Given the description of an element on the screen output the (x, y) to click on. 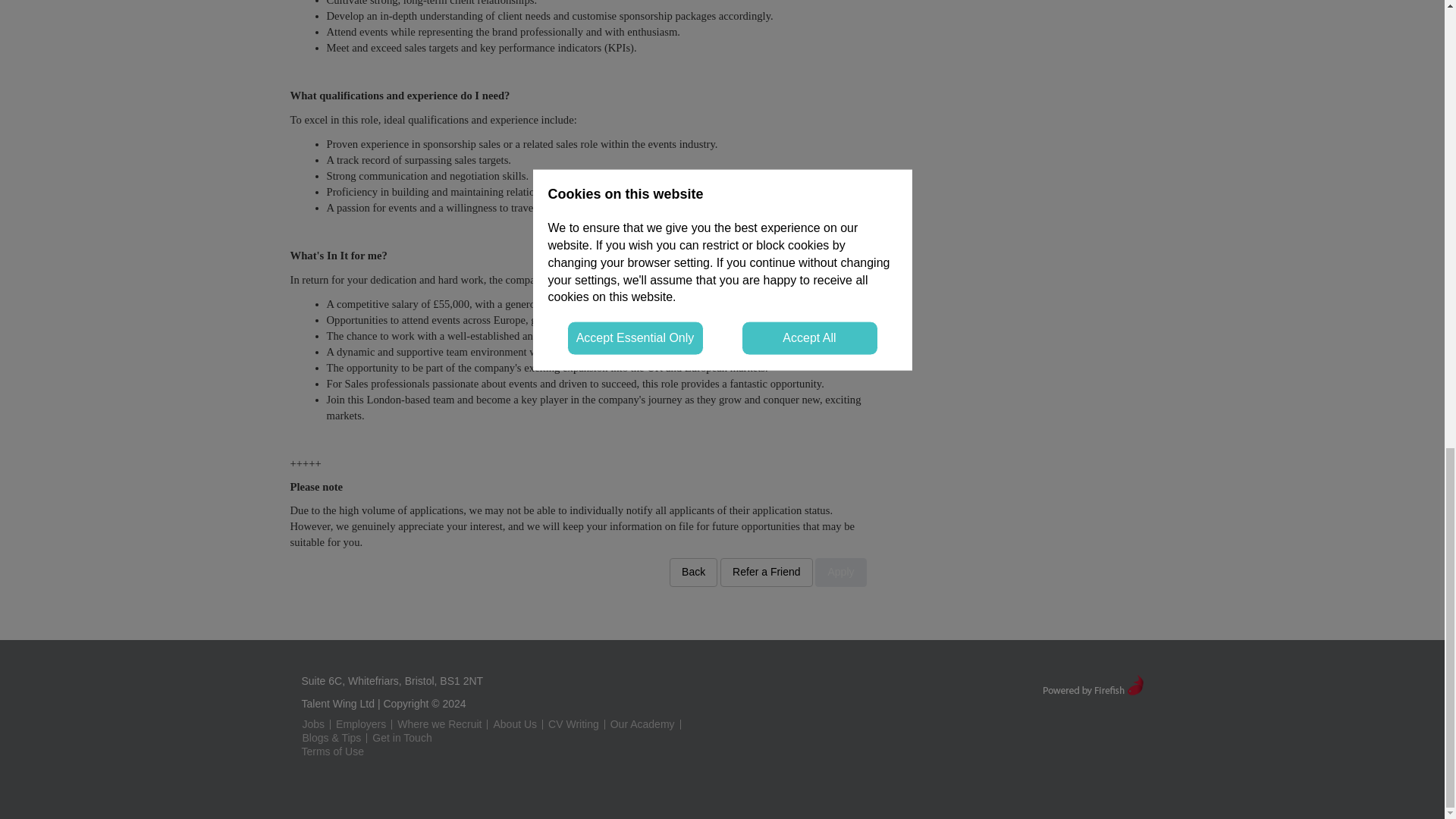
Back (693, 572)
Apply (840, 572)
Refer a Friend (766, 572)
Jobs (312, 724)
Refer a Friend (766, 572)
Employers (360, 724)
Recruitment Software - Firefish Software (1092, 684)
Back (693, 572)
